Given the description of an element on the screen output the (x, y) to click on. 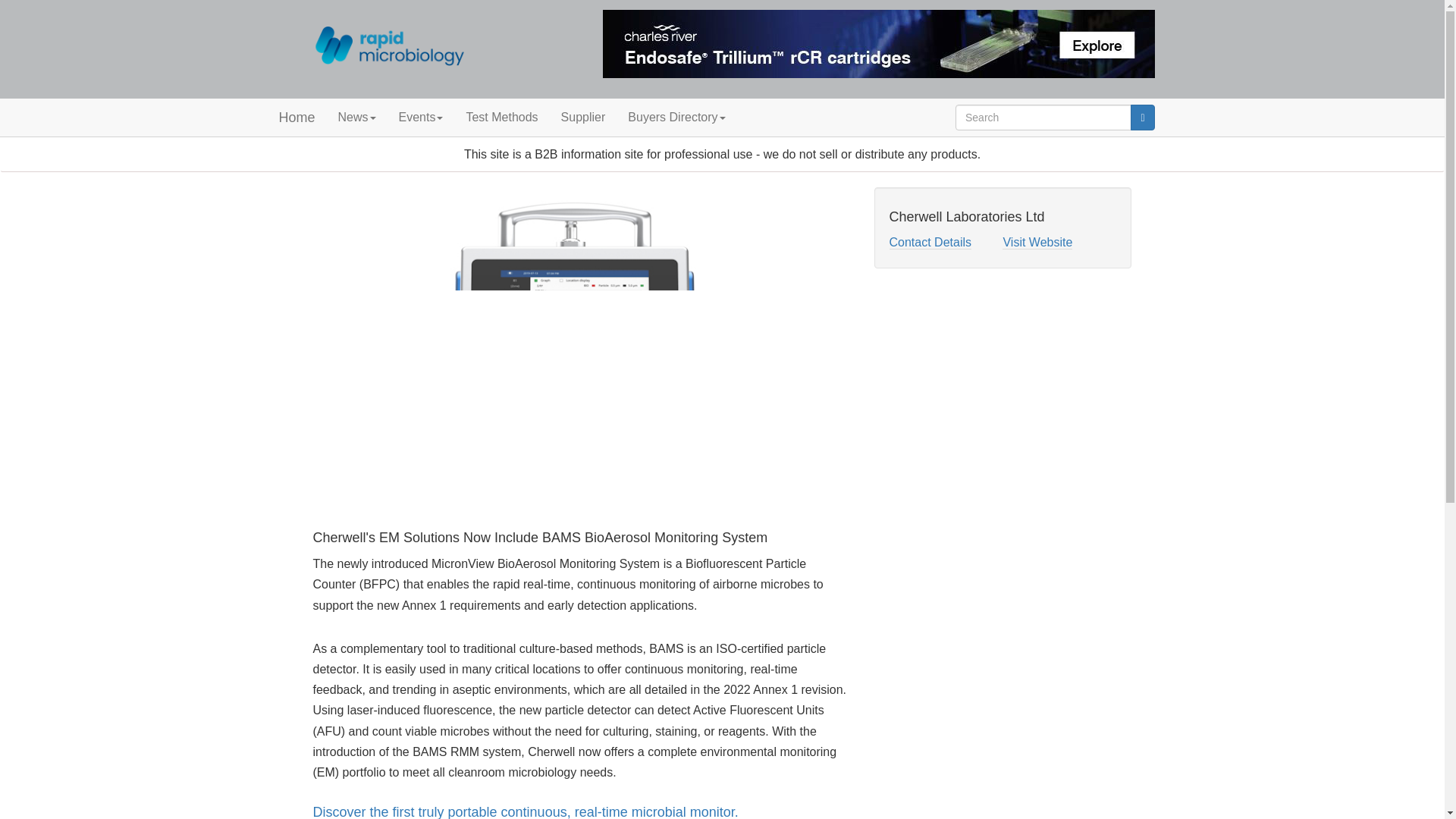
Home (296, 117)
Supplier (583, 117)
Events (420, 117)
Test Methods (501, 117)
Buyers Directory (675, 117)
News (356, 117)
